Given the description of an element on the screen output the (x, y) to click on. 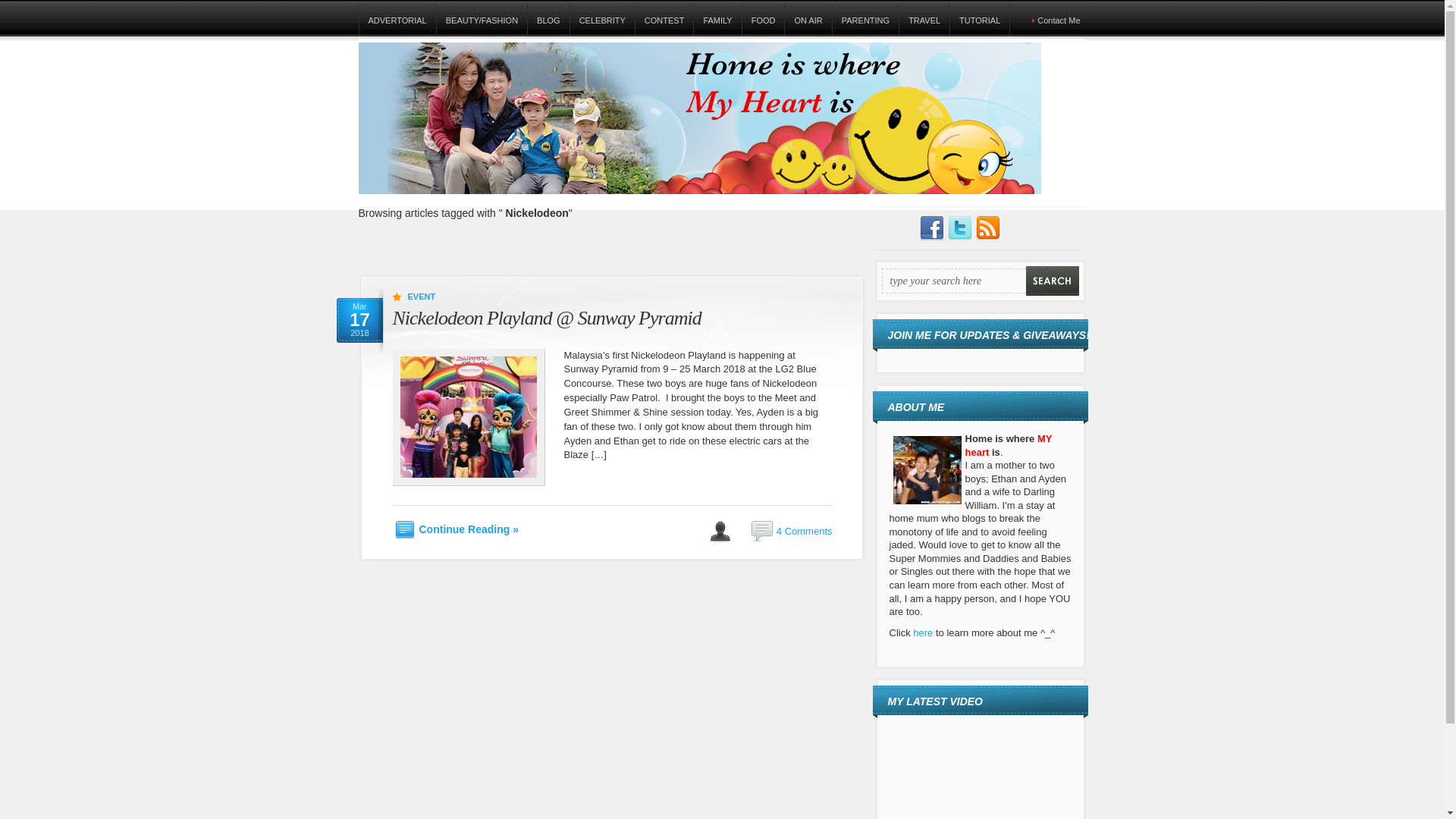
PARENTING (864, 20)
TUTORIAL (979, 20)
Contact Me (1058, 20)
FAMILY (717, 20)
FOOD (762, 20)
CELEBRITY (601, 20)
TRAVEL (923, 20)
ON AIR (807, 20)
BLOG (548, 20)
EVENT (421, 296)
